Given the description of an element on the screen output the (x, y) to click on. 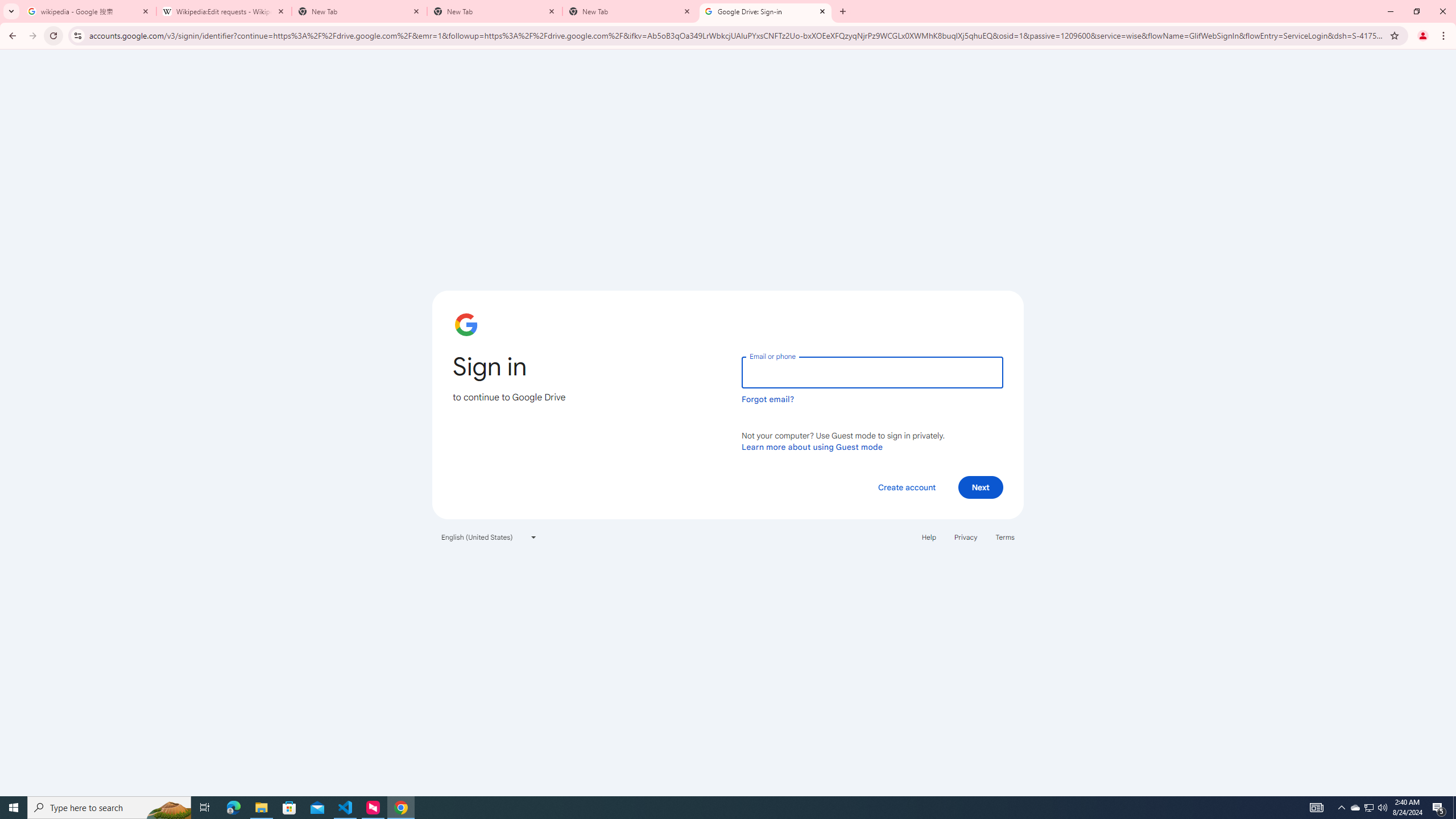
Chrome (1445, 35)
New Tab (630, 11)
Minimize (1390, 11)
English (United States) (489, 536)
Email or phone (871, 372)
Wikipedia:Edit requests - Wikipedia (224, 11)
New Tab (494, 11)
Search tabs (10, 11)
Learn more about using Guest mode (812, 446)
Back (10, 35)
Reload (52, 35)
Terms (1005, 536)
